Given the description of an element on the screen output the (x, y) to click on. 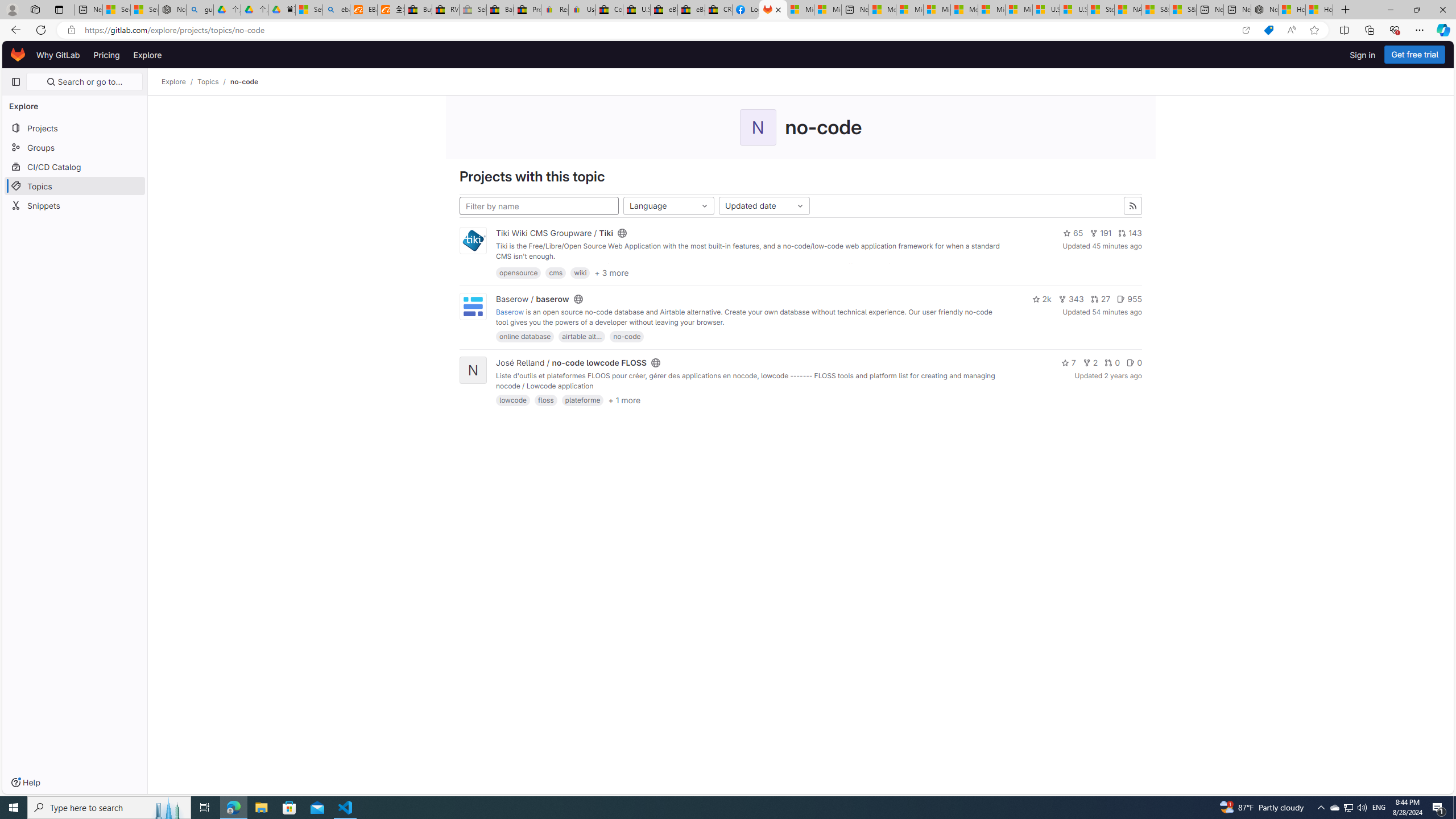
ebay - Search (336, 9)
U.S. State Privacy Disclosures - eBay Inc. (636, 9)
Filter by name (539, 205)
Help (25, 782)
Homepage (17, 54)
Sign in (1362, 54)
Sell worldwide with eBay - Sleeping (473, 9)
Updated date (764, 205)
App bar (728, 29)
Pricing (106, 54)
